Given the description of an element on the screen output the (x, y) to click on. 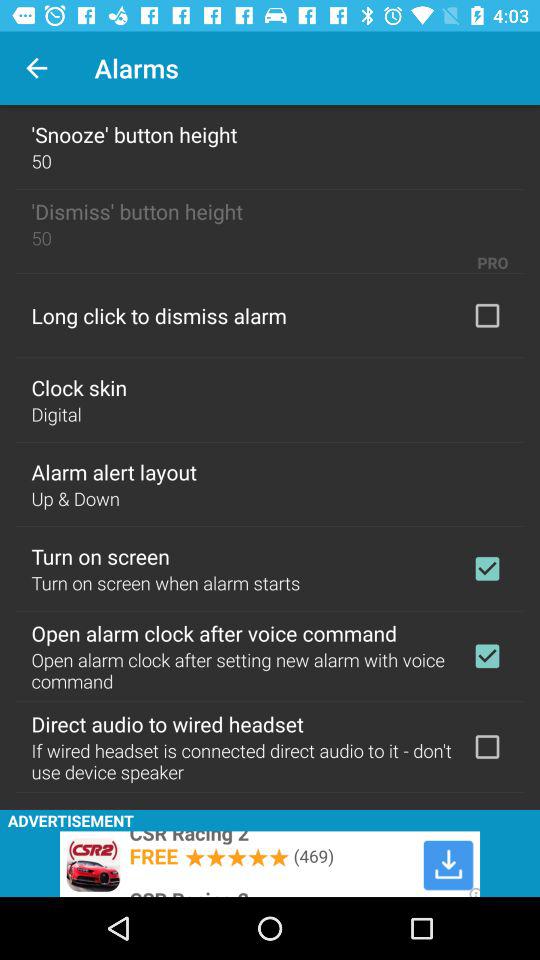
add banner (270, 864)
